Given the description of an element on the screen output the (x, y) to click on. 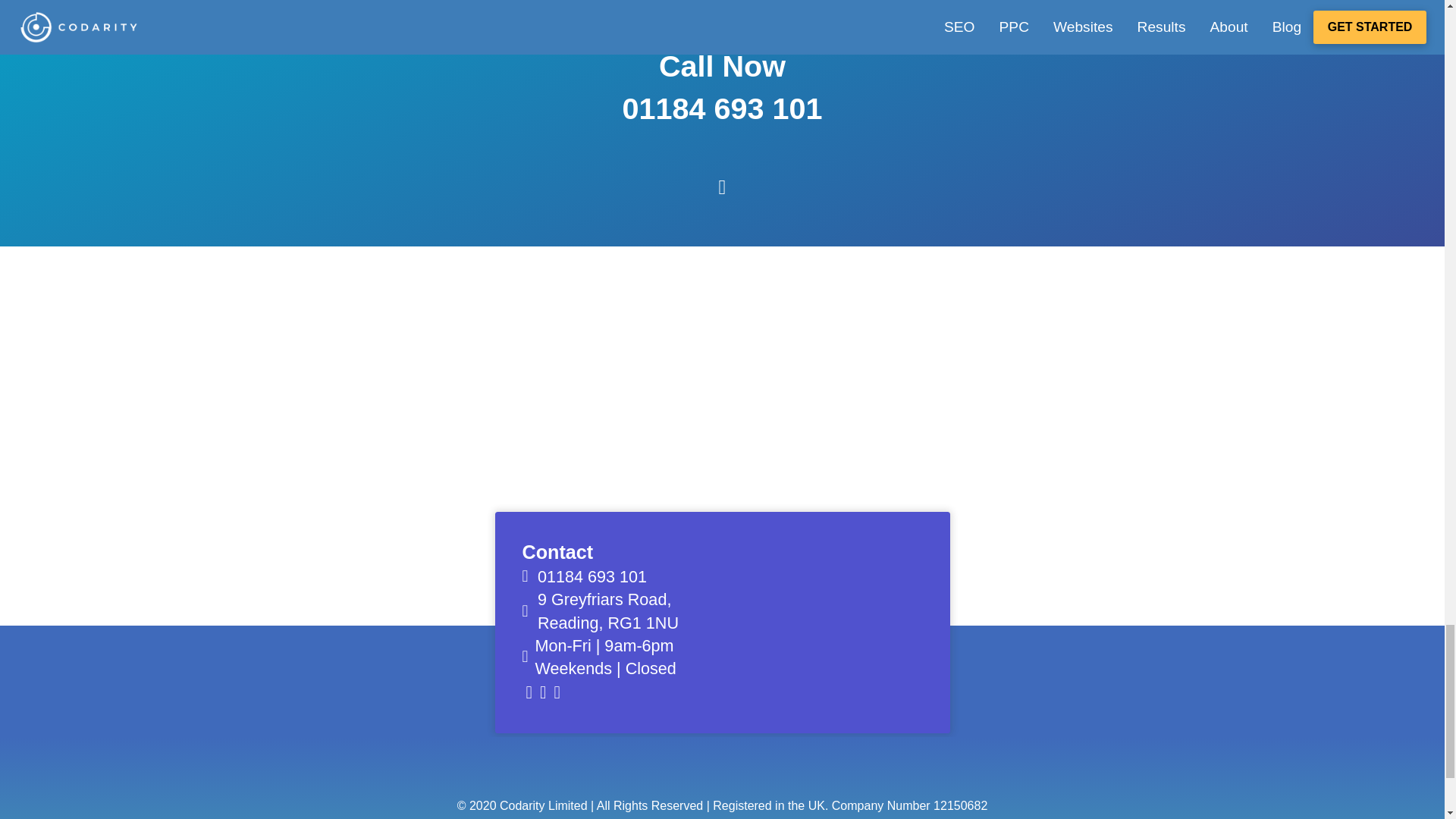
01184 693 101 (591, 576)
01184 693 101 (721, 108)
